Given the description of an element on the screen output the (x, y) to click on. 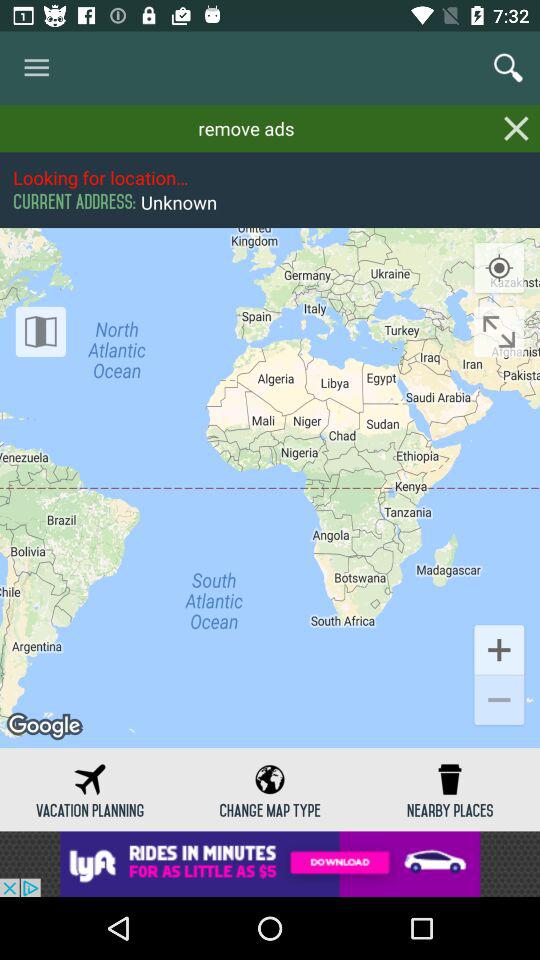
change map view (40, 331)
